Given the description of an element on the screen output the (x, y) to click on. 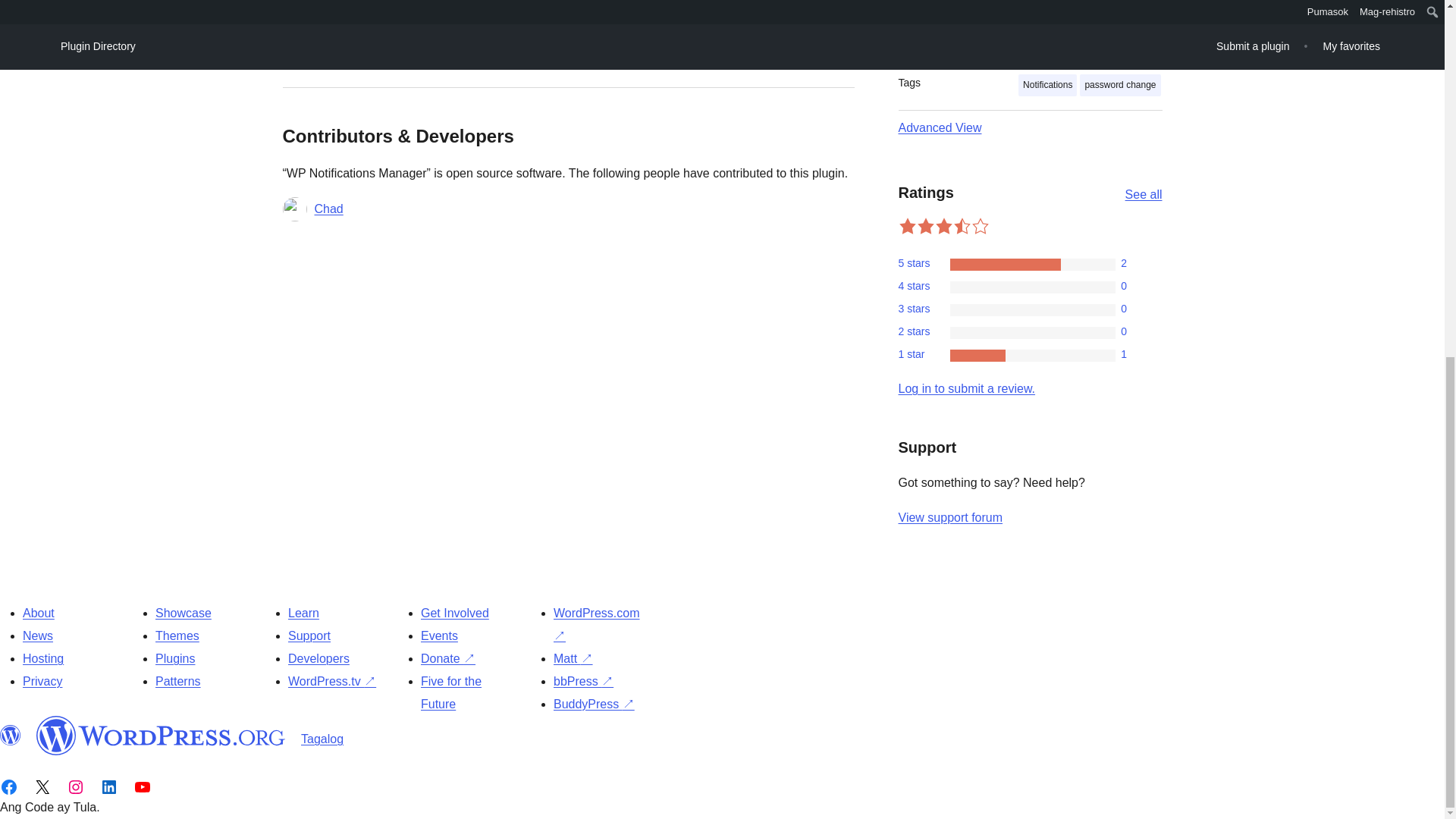
WordPress.org (160, 735)
Log in to WordPress.org (966, 388)
Chad (328, 209)
WordPress.org (10, 735)
